Given the description of an element on the screen output the (x, y) to click on. 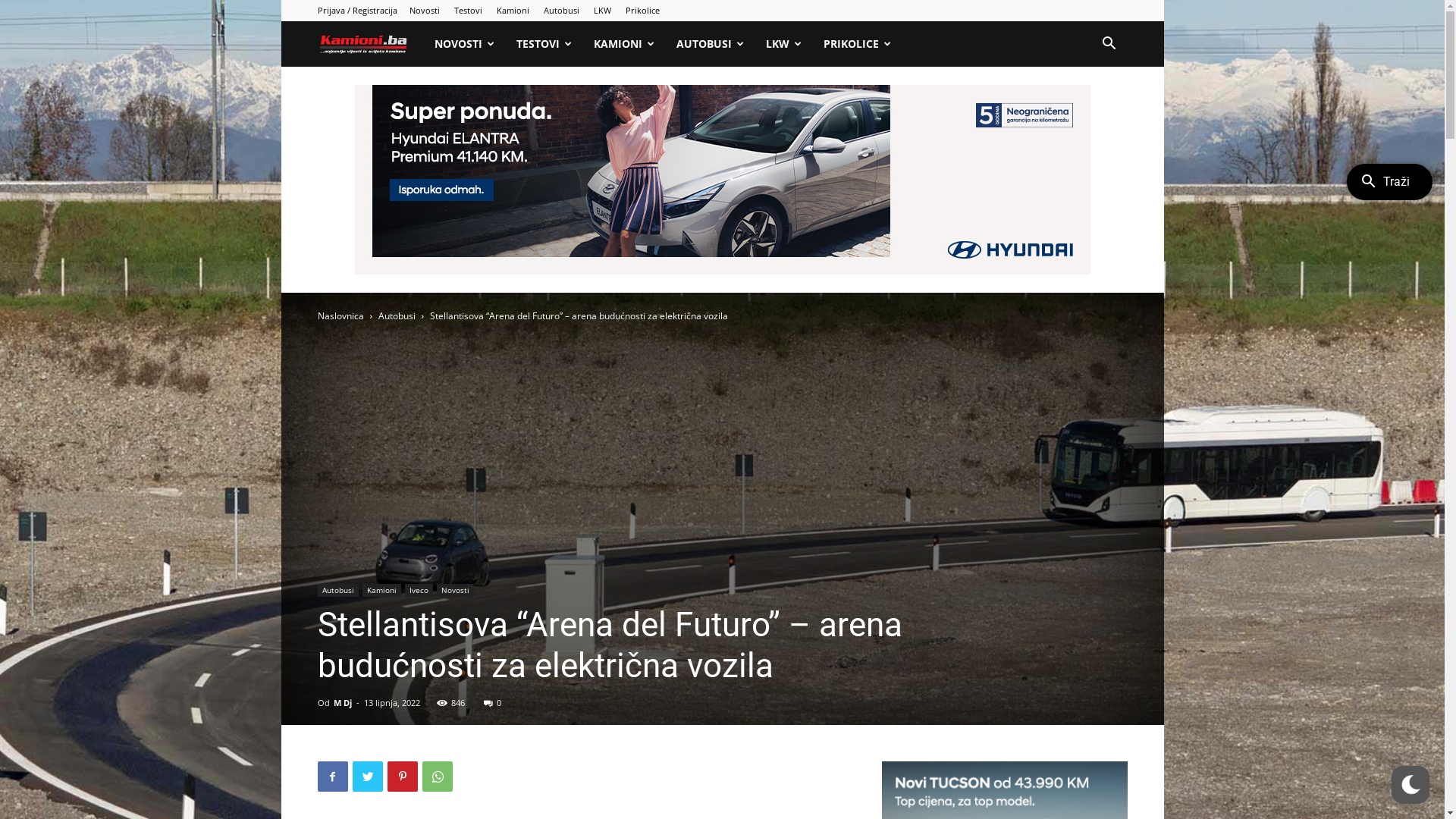
Kamioni Element type: text (369, 44)
Novosti Element type: text (424, 9)
0 Element type: text (492, 702)
KAMIONI Element type: text (624, 43)
Kamioni Element type: text (381, 589)
NOVOSTI Element type: text (464, 43)
Prikolice Element type: text (641, 9)
AUTOBUSI Element type: text (710, 43)
Iveco Element type: text (418, 589)
TESTOVI Element type: text (544, 43)
Testovi Element type: text (467, 9)
PRIKOLICE Element type: text (857, 43)
Prijava / Registracija Element type: text (356, 9)
Autobusi Element type: text (560, 9)
M Dj Element type: text (342, 702)
Naslovnica Element type: text (339, 315)
Pretraga Element type: text (1081, 109)
LKW Element type: text (783, 43)
Pinterest Element type: hover (401, 776)
Autobusi Element type: text (395, 315)
Twitter Element type: hover (366, 776)
LKW Element type: text (601, 9)
Autobusi Element type: text (336, 589)
WhatsApp Element type: hover (436, 776)
Novosti Element type: text (454, 589)
Facebook Element type: hover (331, 776)
Kamioni Element type: text (511, 9)
